Given the description of an element on the screen output the (x, y) to click on. 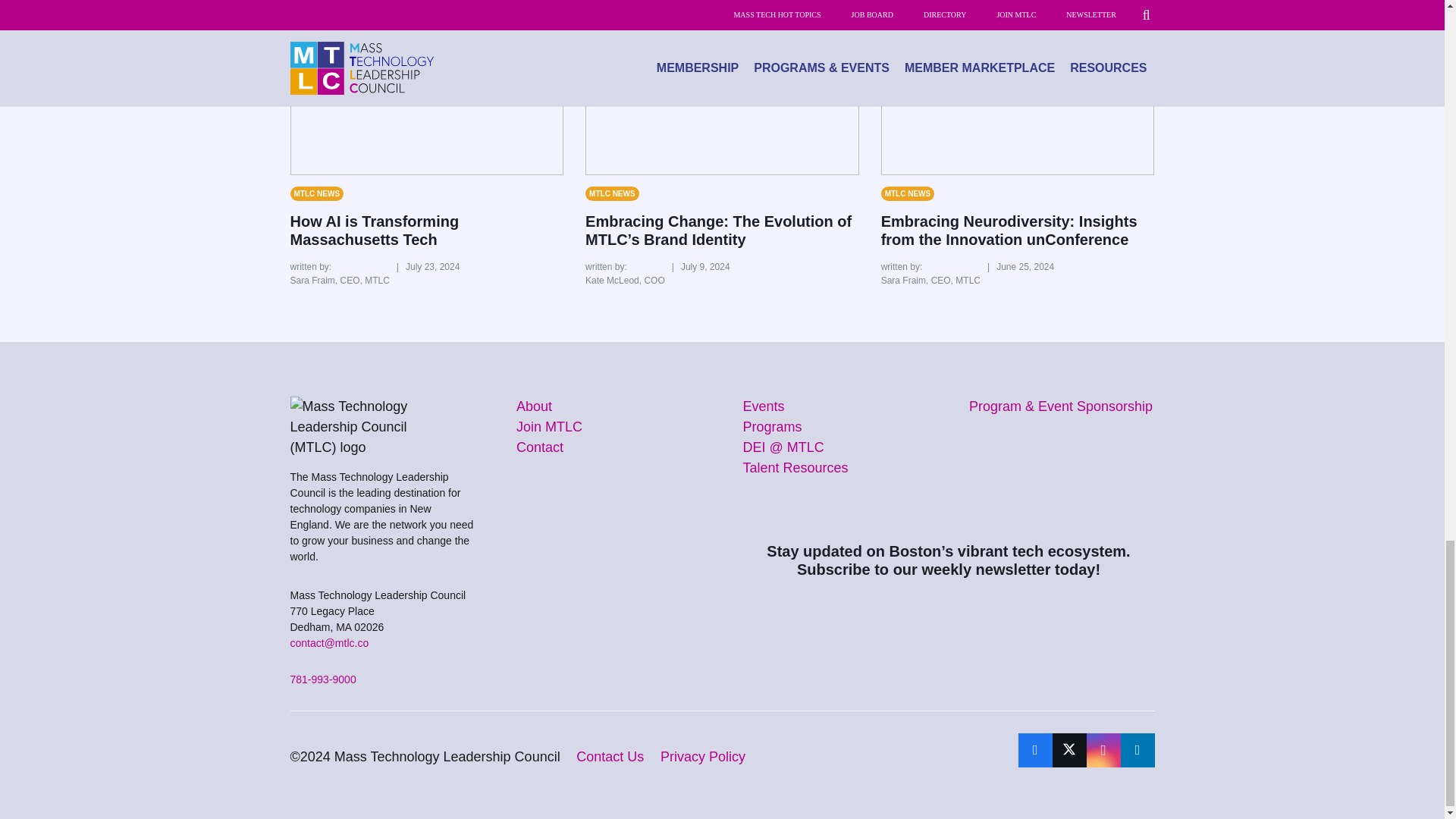
Facebook (1034, 750)
Twitter (1069, 750)
Instagram (1102, 750)
LinkedIn (1137, 750)
